Given the description of an element on the screen output the (x, y) to click on. 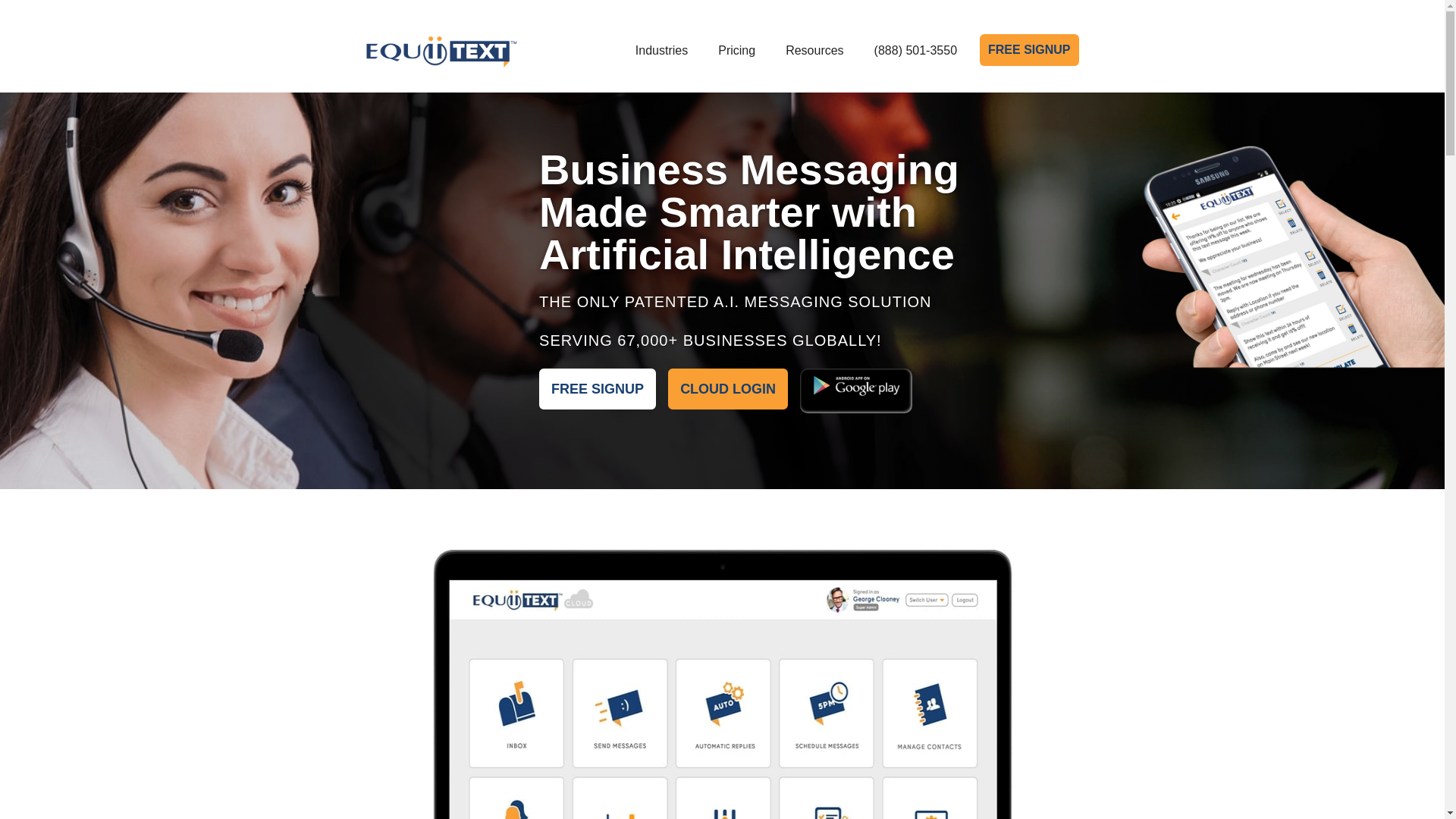
Resources (814, 50)
FREE SIGNUP (1029, 49)
FREE SIGNUP (597, 388)
CLOUD LOGIN (727, 388)
Industries (660, 50)
Pricing (736, 50)
